Given the description of an element on the screen output the (x, y) to click on. 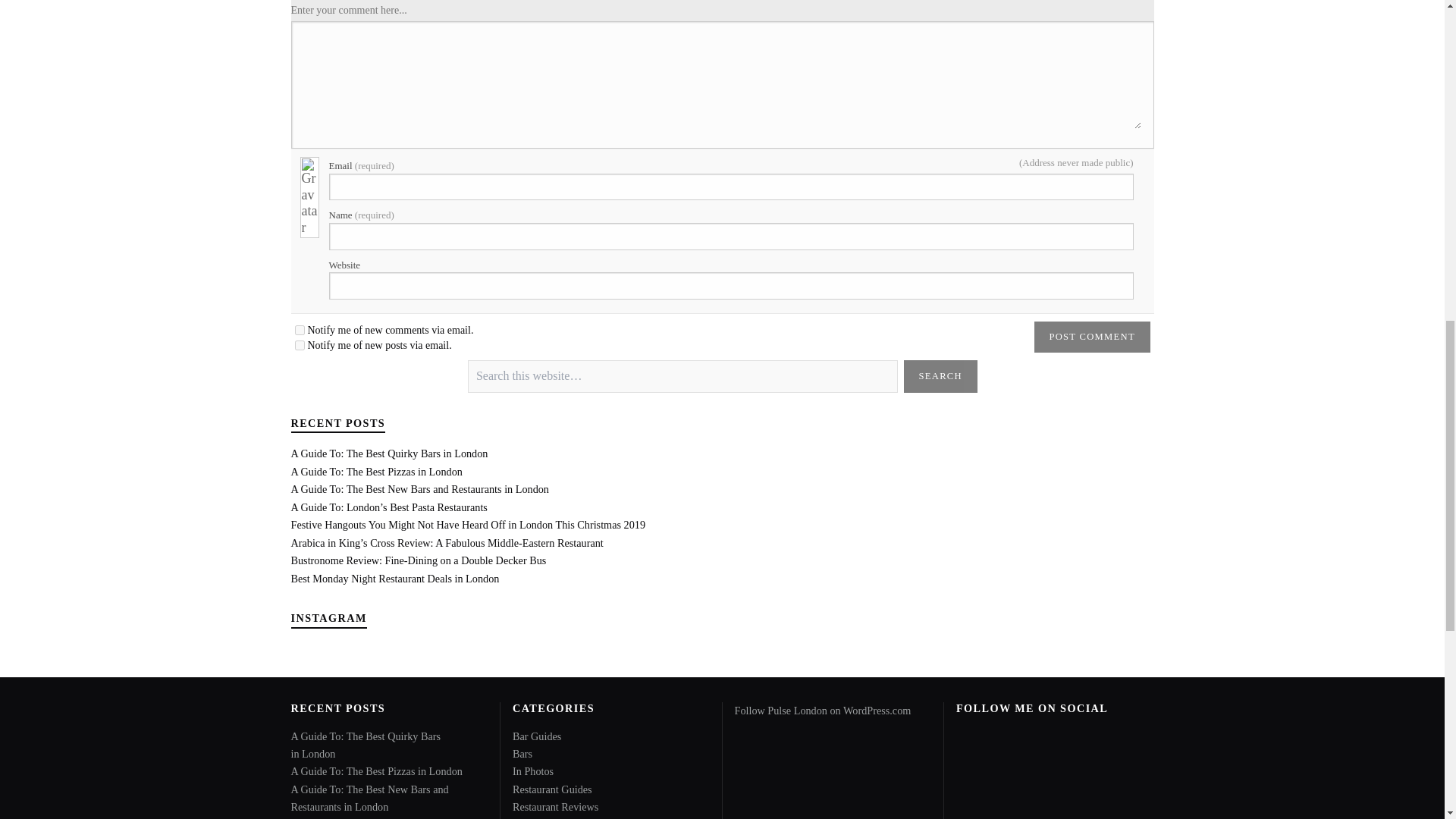
Reviews and opinions on London's top restaurants. (555, 806)
Post Comment (1091, 336)
Search for: (681, 376)
subscribe (299, 329)
Enter your comment here... (721, 81)
subscribe (299, 345)
